Given the description of an element on the screen output the (x, y) to click on. 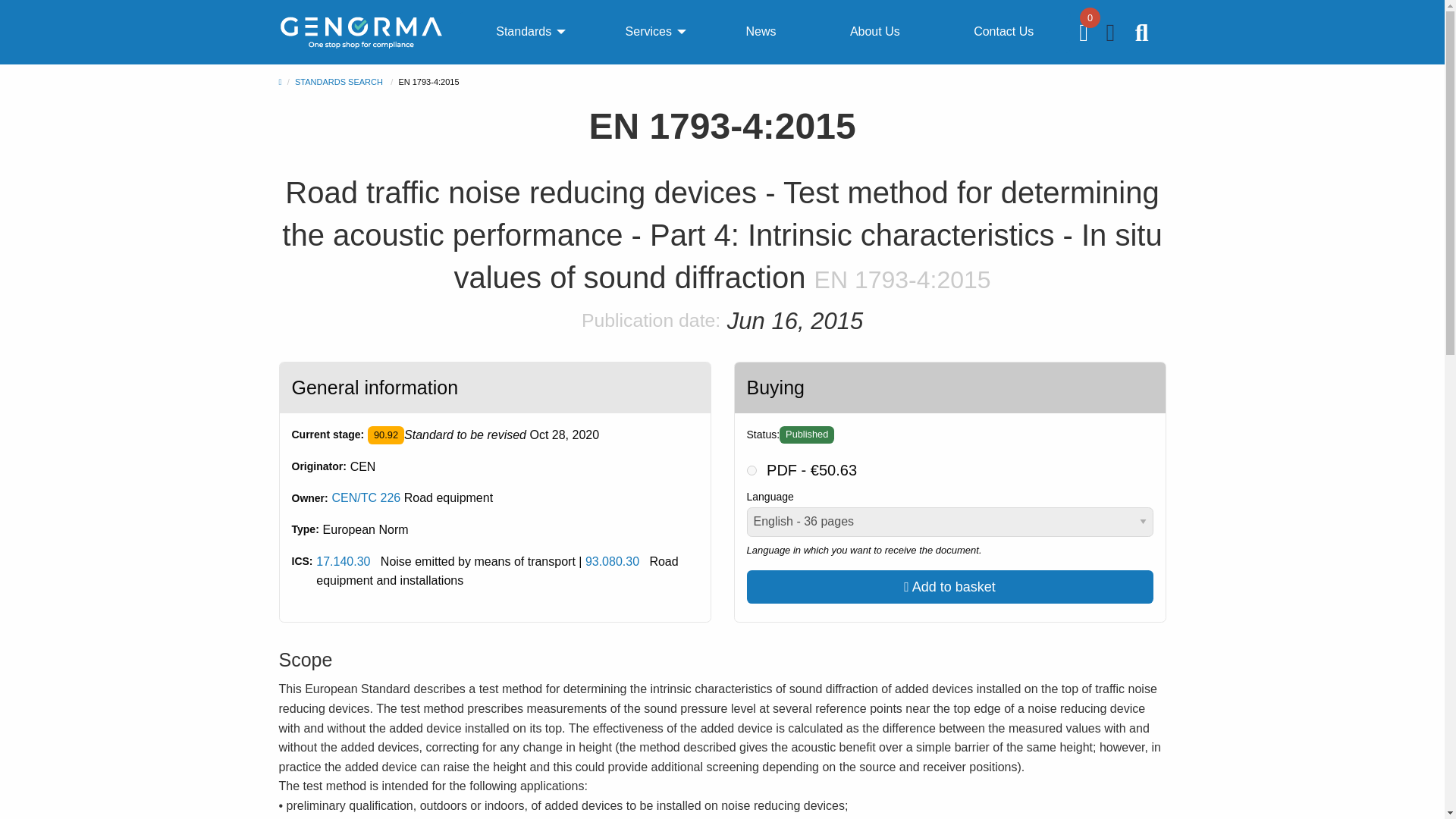
STANDARDS SEARCH (338, 81)
News (759, 32)
17.140.30 (342, 561)
Add to basket (949, 586)
93.080.30 (612, 561)
About Us (874, 32)
My account (1112, 36)
1267 (750, 470)
Services (648, 32)
Standards (523, 32)
Effective date (563, 435)
Standard to be revised (386, 434)
Contact Us (1003, 32)
Status (806, 434)
